Given the description of an element on the screen output the (x, y) to click on. 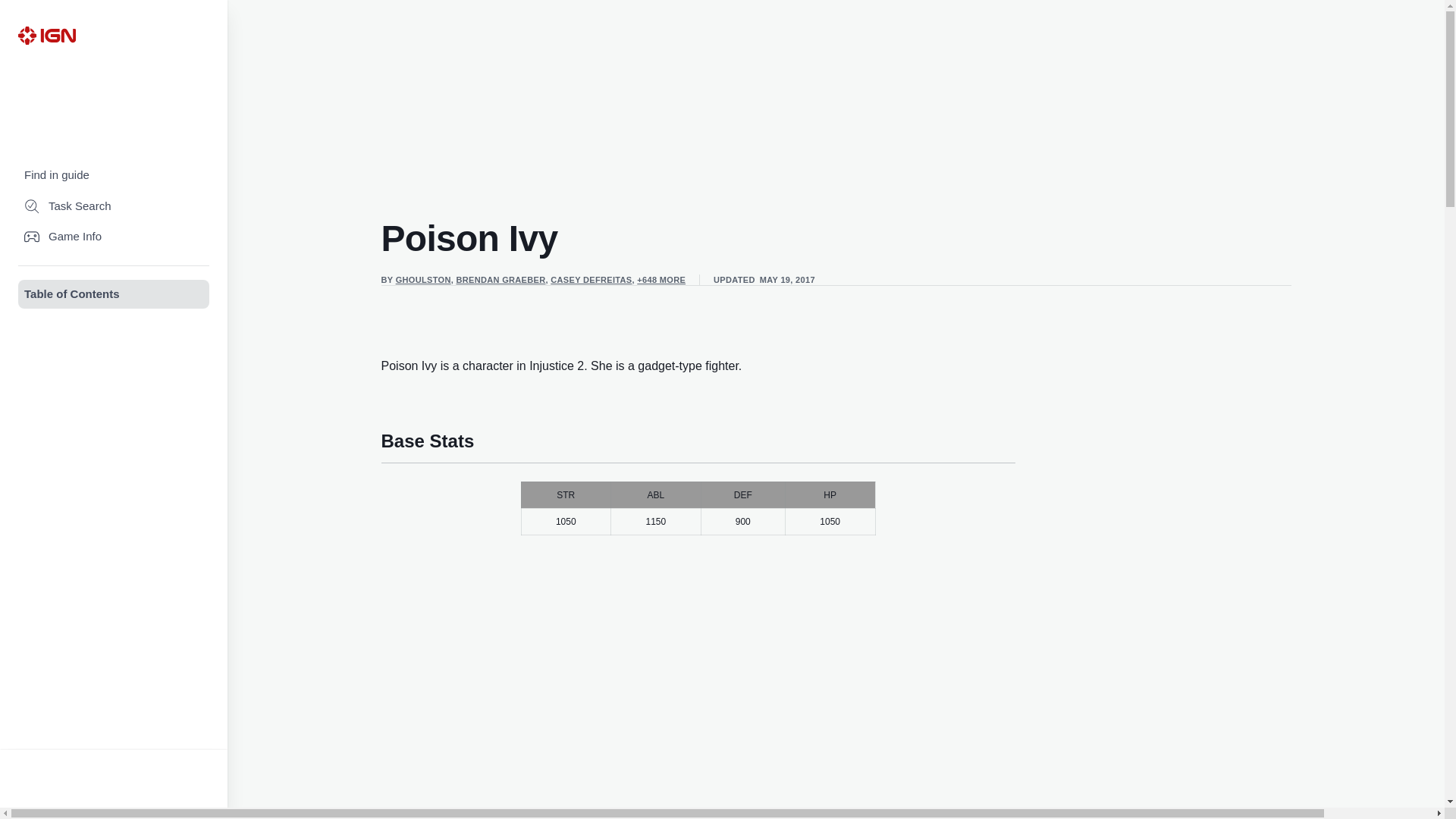
Table of Contents (113, 294)
Task Search (113, 206)
Game Info (113, 236)
Table of Contents (113, 294)
Find in guide (113, 175)
IGN Logo (46, 34)
Find in guide (113, 175)
IGN (46, 35)
Game Info (113, 236)
Task Search (113, 206)
